Given the description of an element on the screen output the (x, y) to click on. 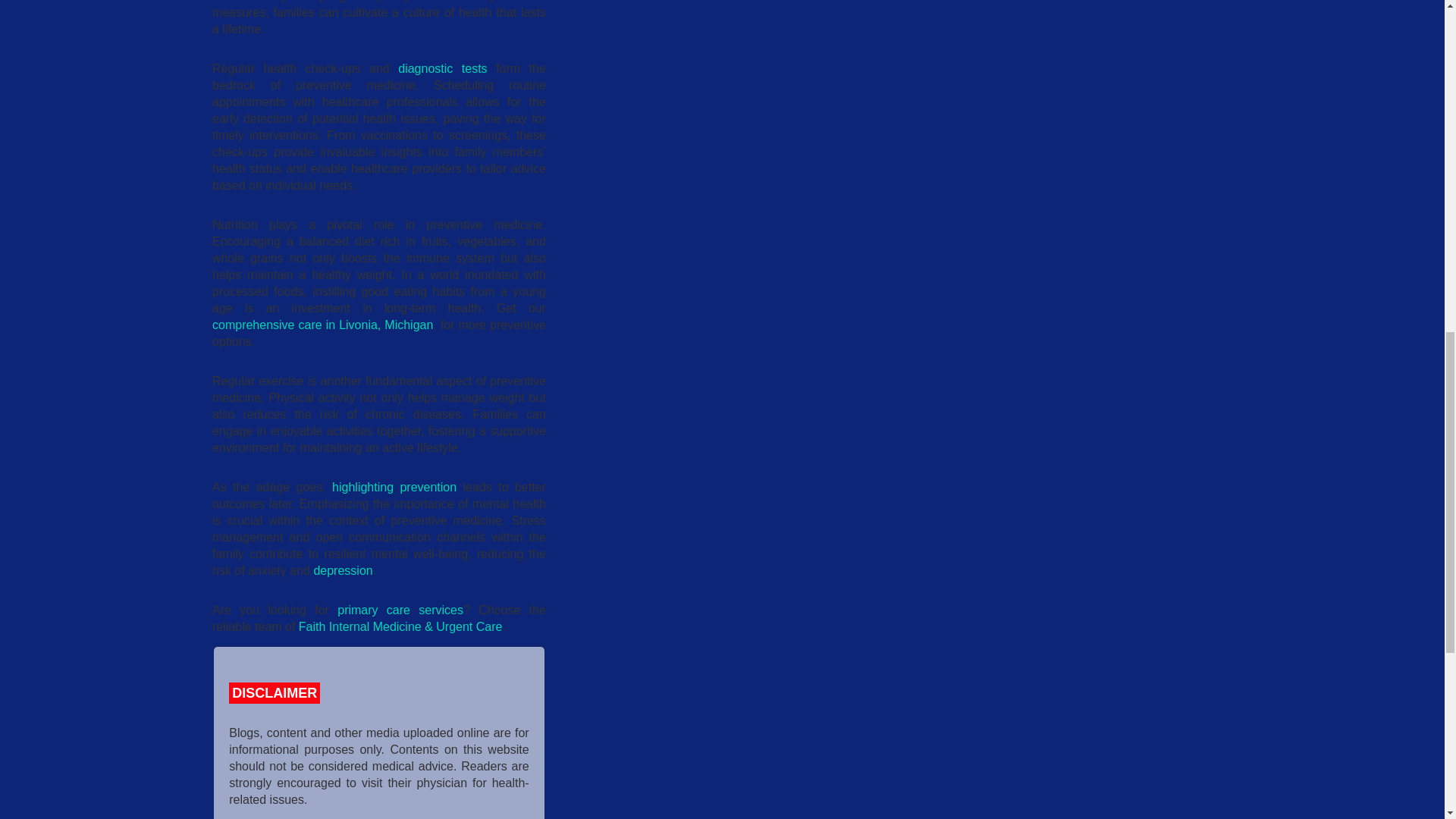
primary care services (400, 609)
diagnostic tests (441, 68)
comprehensive (255, 324)
highlighting prevention (394, 486)
depression (342, 570)
care (312, 324)
in Livonia, Michigan (379, 324)
